Given the description of an element on the screen output the (x, y) to click on. 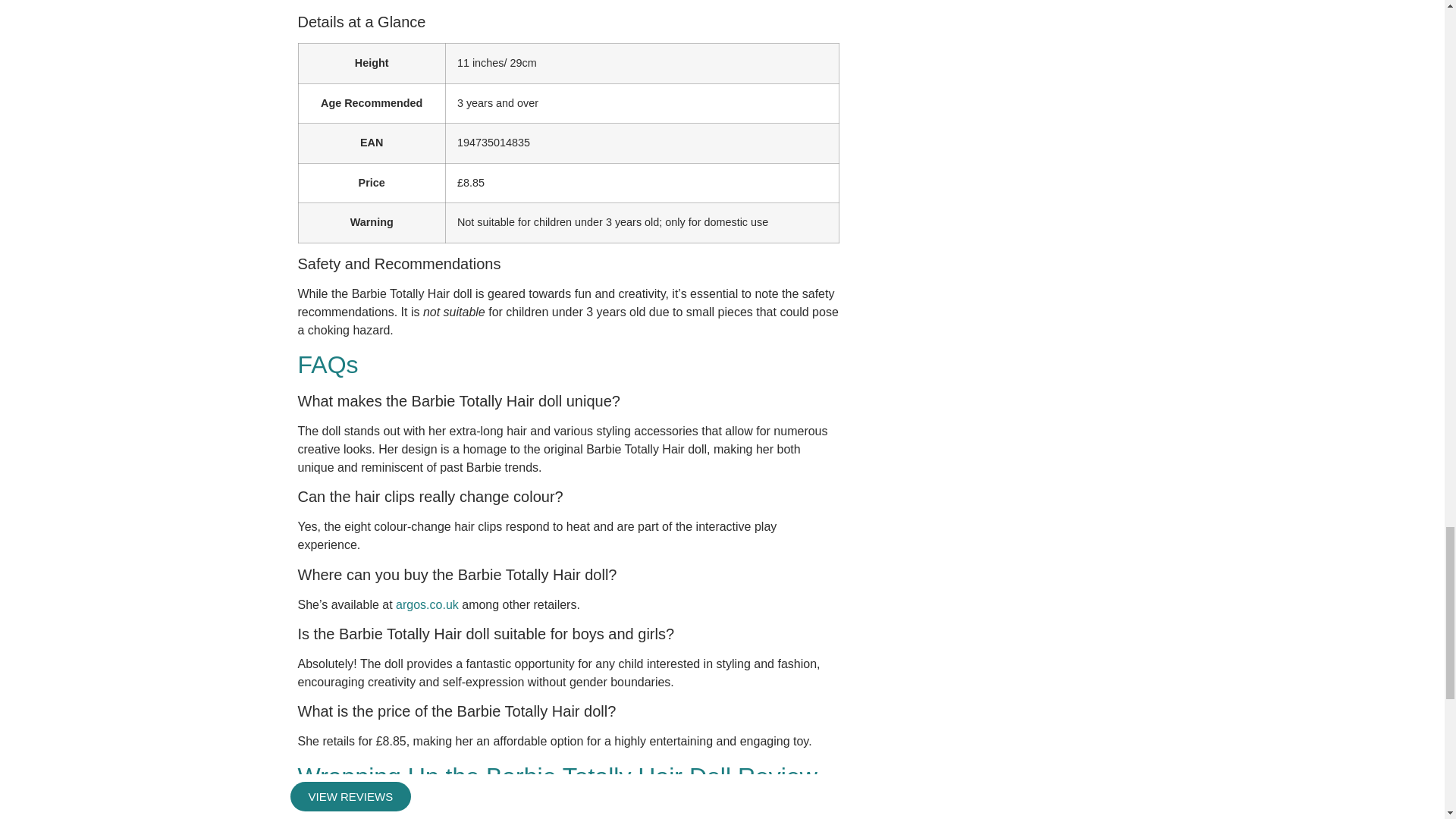
argos.co.uk (427, 604)
